Given the description of an element on the screen output the (x, y) to click on. 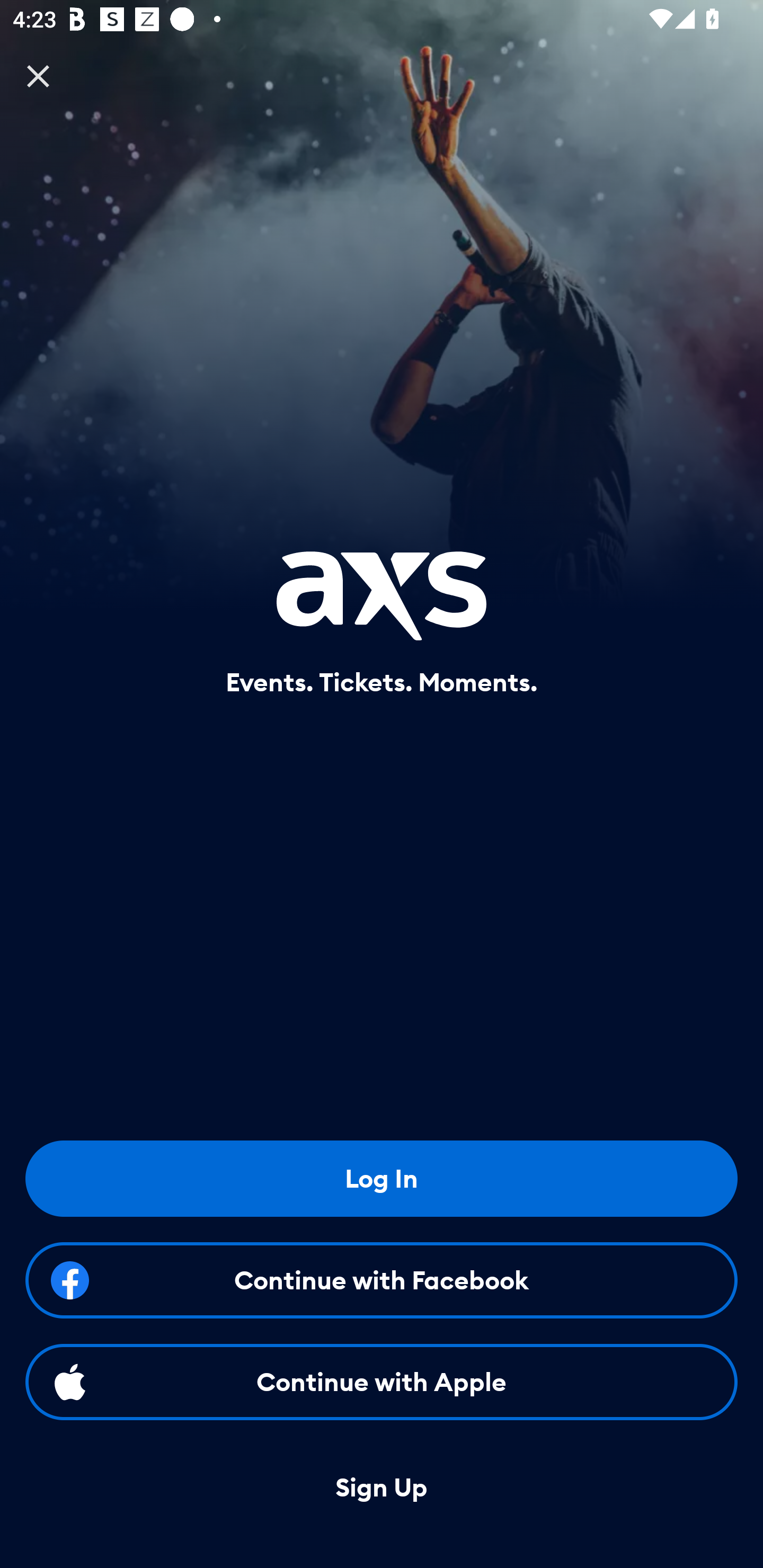
Log In (381, 1177)
Continue with Facebook (381, 1279)
Continue with Apple (381, 1381)
Sign Up (381, 1487)
